Given the description of an element on the screen output the (x, y) to click on. 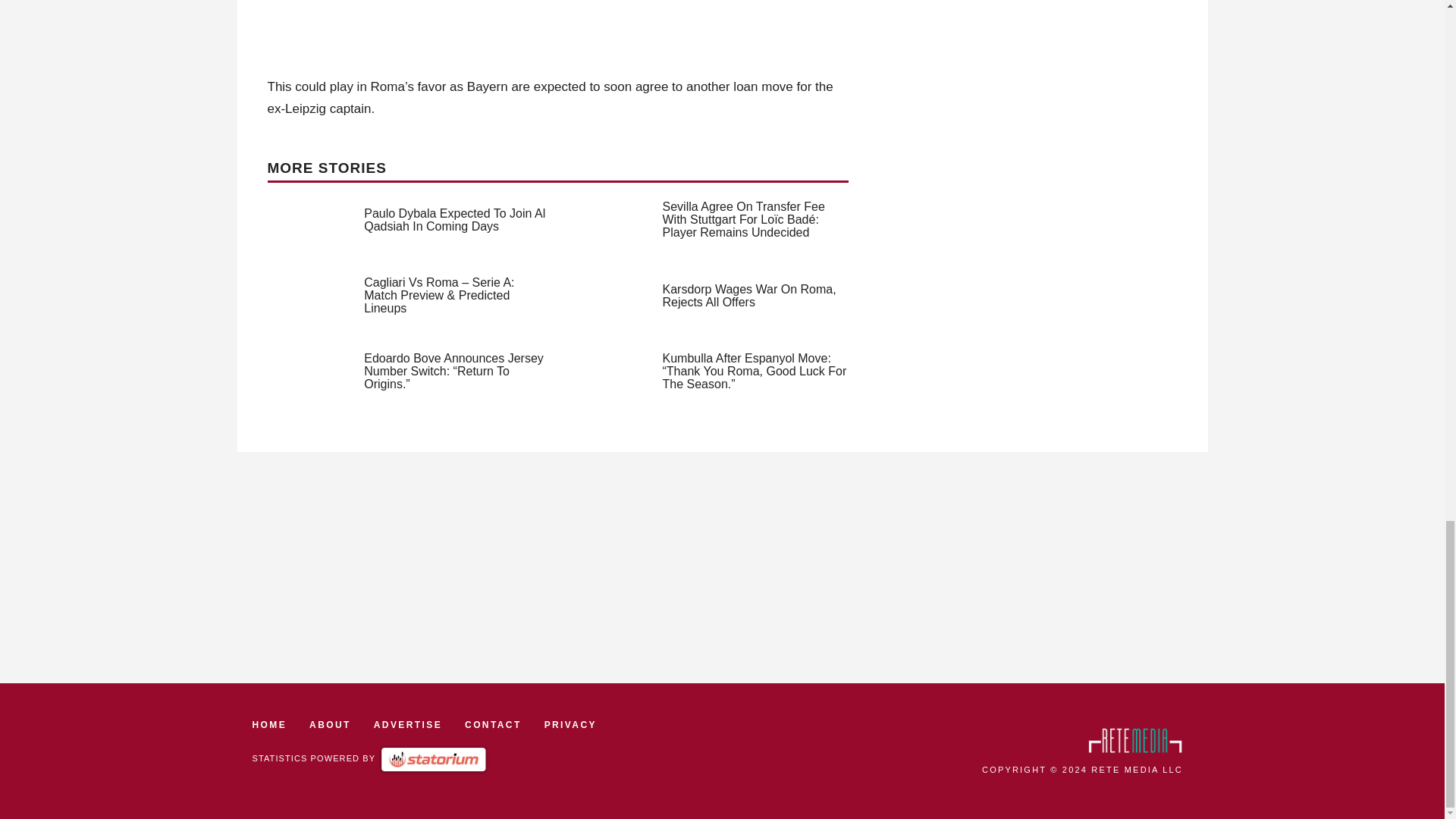
ABOUT (329, 725)
ADVERTISE (408, 725)
Karsdorp Wages War On Roma, Rejects All Offers (748, 295)
Paulo Dybala Expected To Join Al Qadsiah In Coming Days (454, 219)
HOME (268, 725)
CONTACT (492, 725)
PRIVACY (570, 725)
